Given the description of an element on the screen output the (x, y) to click on. 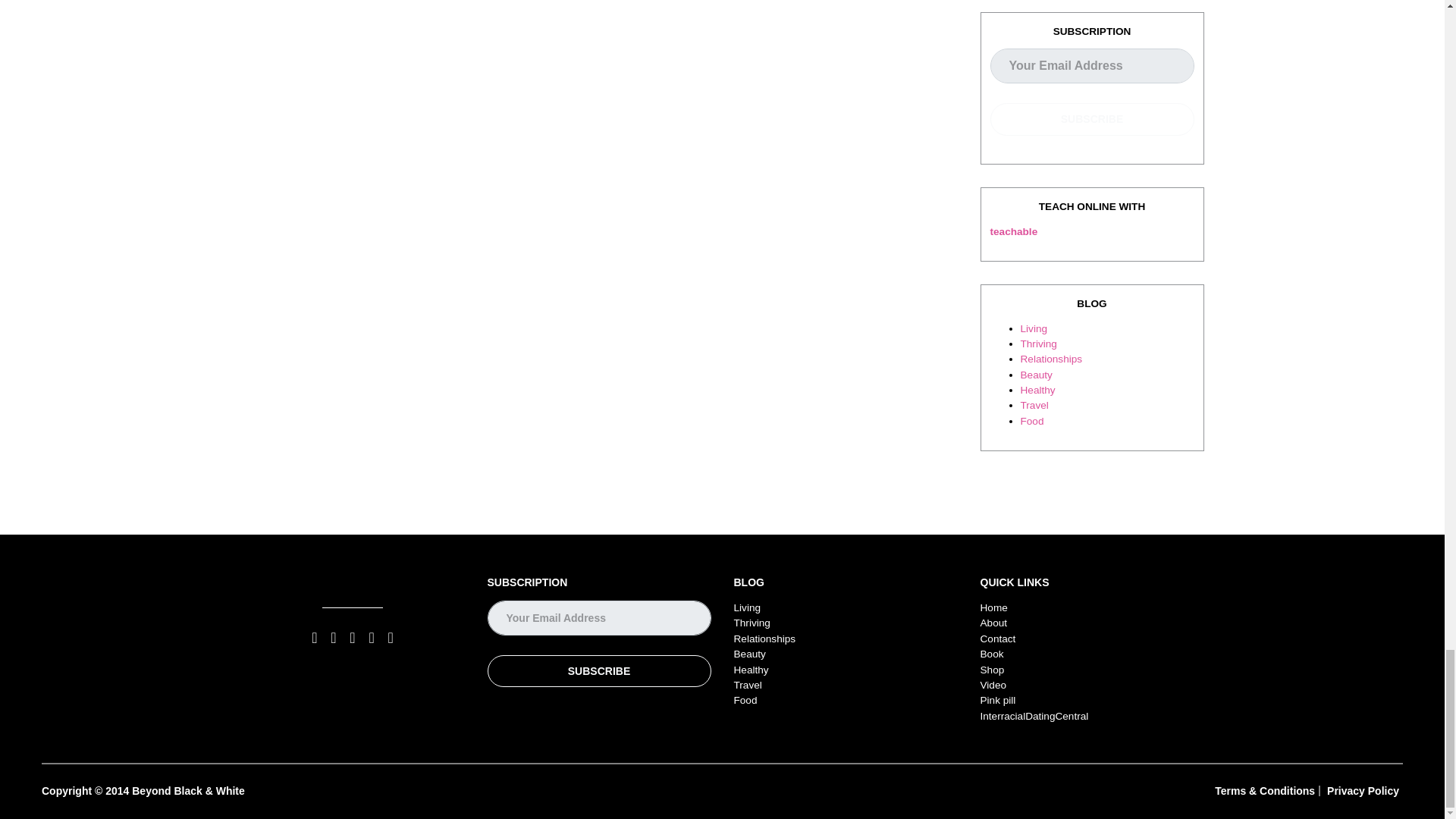
Subscribe (598, 671)
Subscribe (1091, 119)
